Given the description of an element on the screen output the (x, y) to click on. 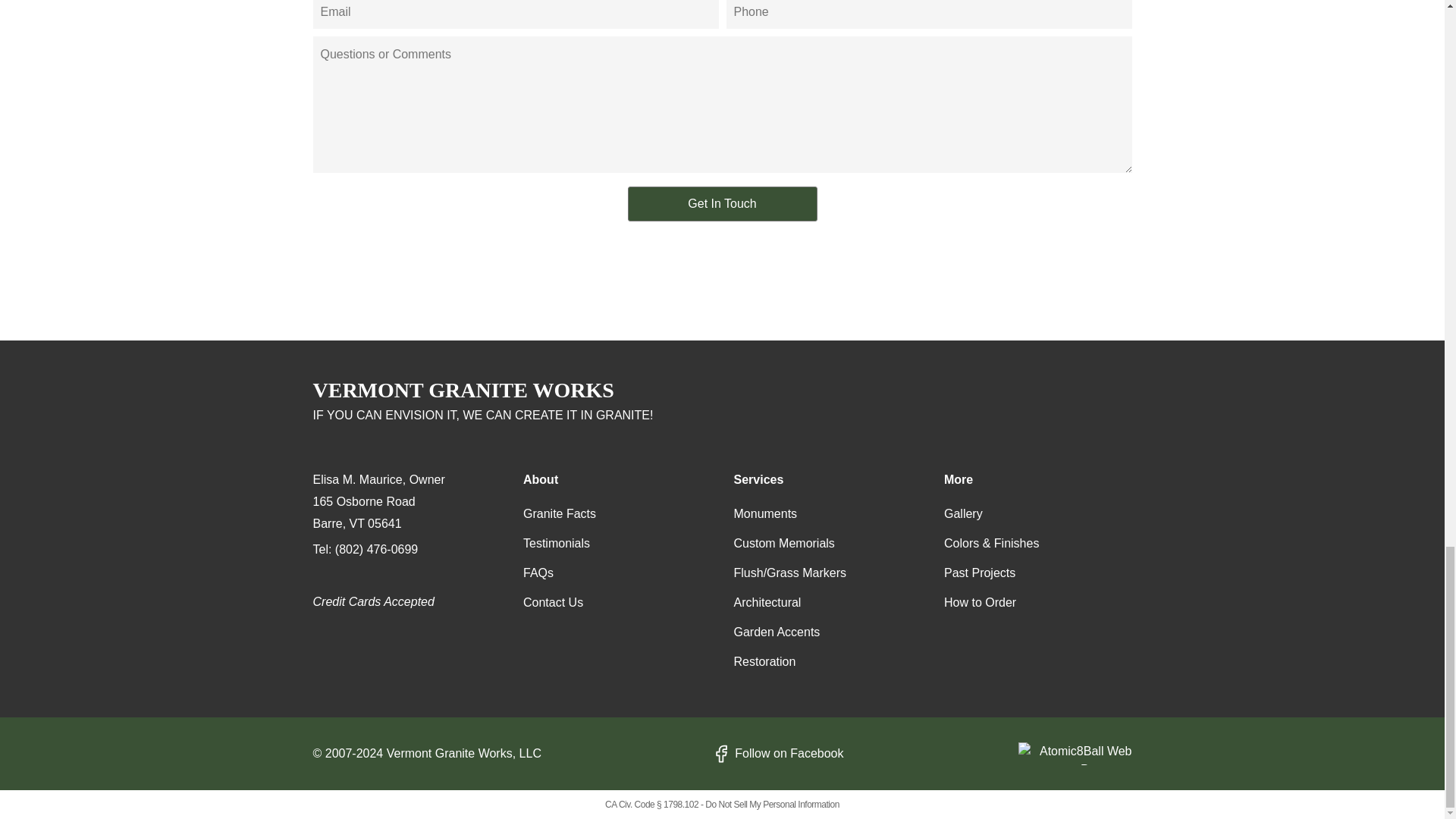
Testimonials (555, 543)
Contact Us (552, 602)
Past Projects (978, 573)
Monuments (765, 514)
Architectural (767, 602)
Gallery (962, 514)
FAQs (537, 573)
Granite Facts (558, 514)
Follow on Facebook (776, 753)
Custom Memorials (783, 543)
Get In Touch (721, 203)
Garden Accents (777, 632)
Restoration (764, 661)
Do Not Sell My Personal Information (772, 804)
